Given the description of an element on the screen output the (x, y) to click on. 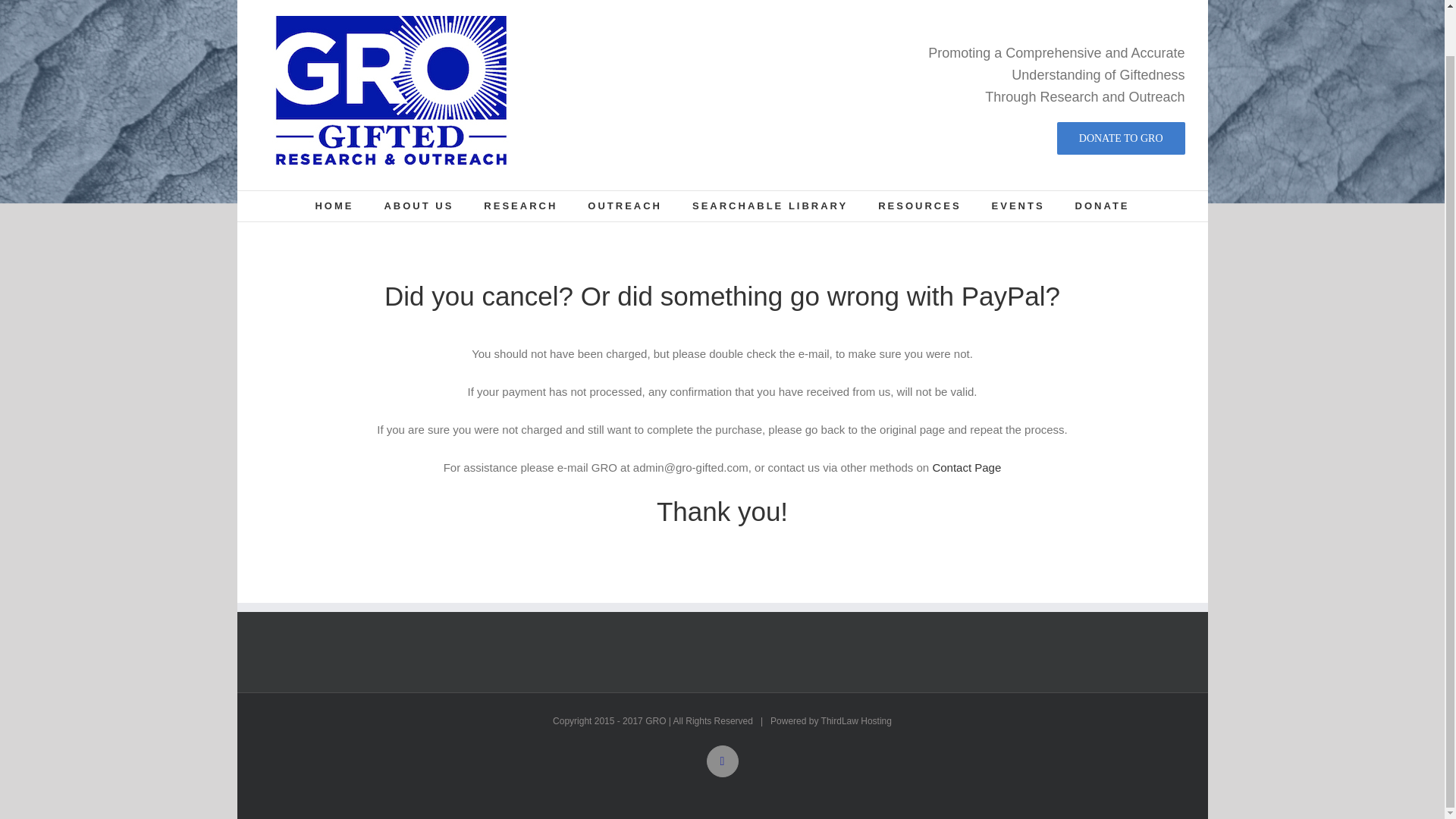
Facebook (722, 761)
RESOURCES (918, 205)
DONATE TO GRO (1121, 138)
SEARCHABLE LIBRARY (770, 205)
HOME (333, 205)
ABOUT US (418, 205)
OUTREACH (625, 205)
Contact Page (966, 467)
RESEARCH (520, 205)
DONATE (1102, 205)
